Given the description of an element on the screen output the (x, y) to click on. 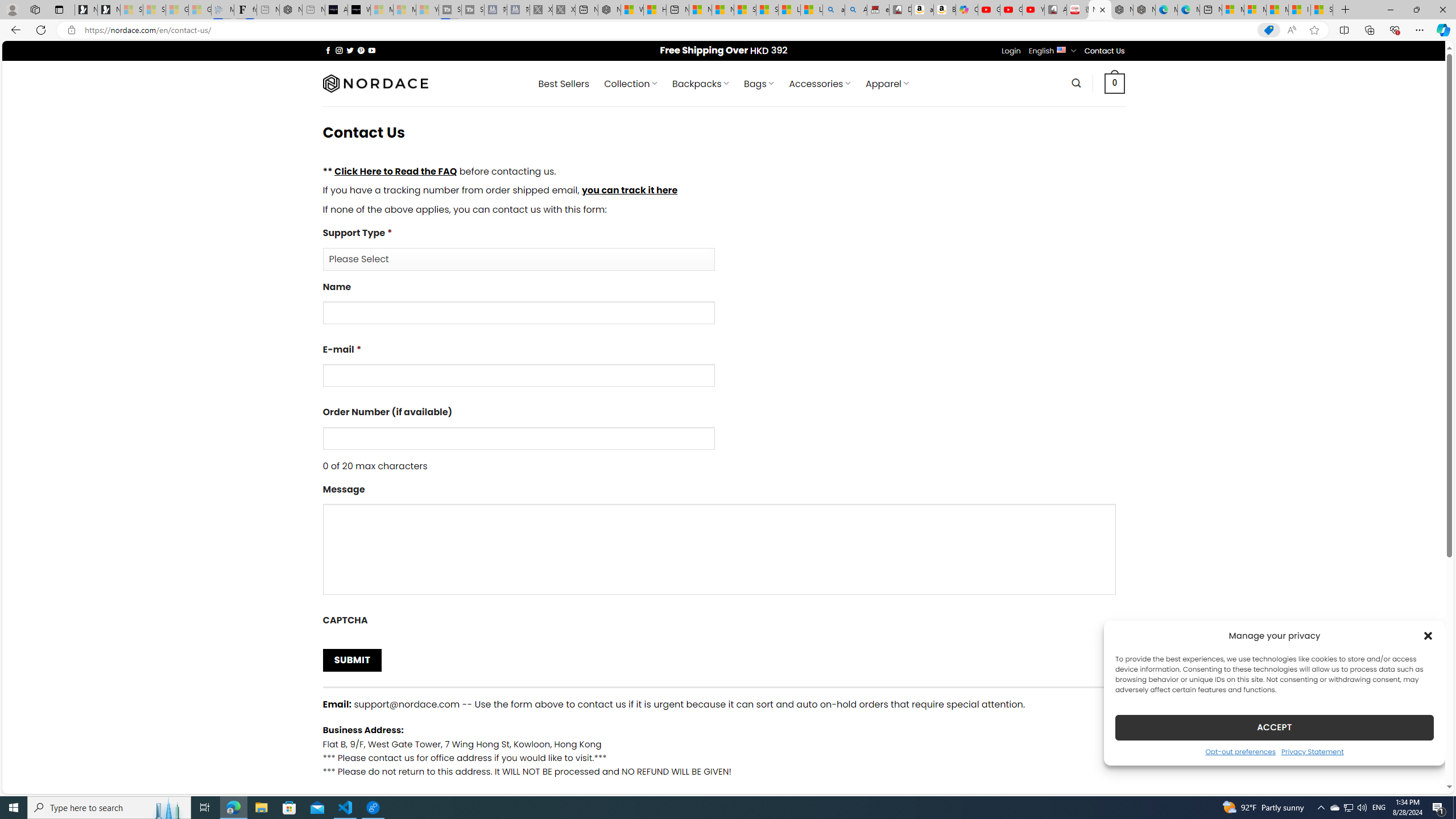
I Gained 20 Pounds of Muscle in 30 Days! | Watch (1300, 9)
Submit (351, 659)
you can track it here (629, 190)
Order Number (if available) (517, 437)
Class: cmplz-close (1428, 635)
Name (723, 306)
amazon.in/dp/B0CX59H5W7/?tag=gsmcom05-21 (923, 9)
